Given the description of an element on the screen output the (x, y) to click on. 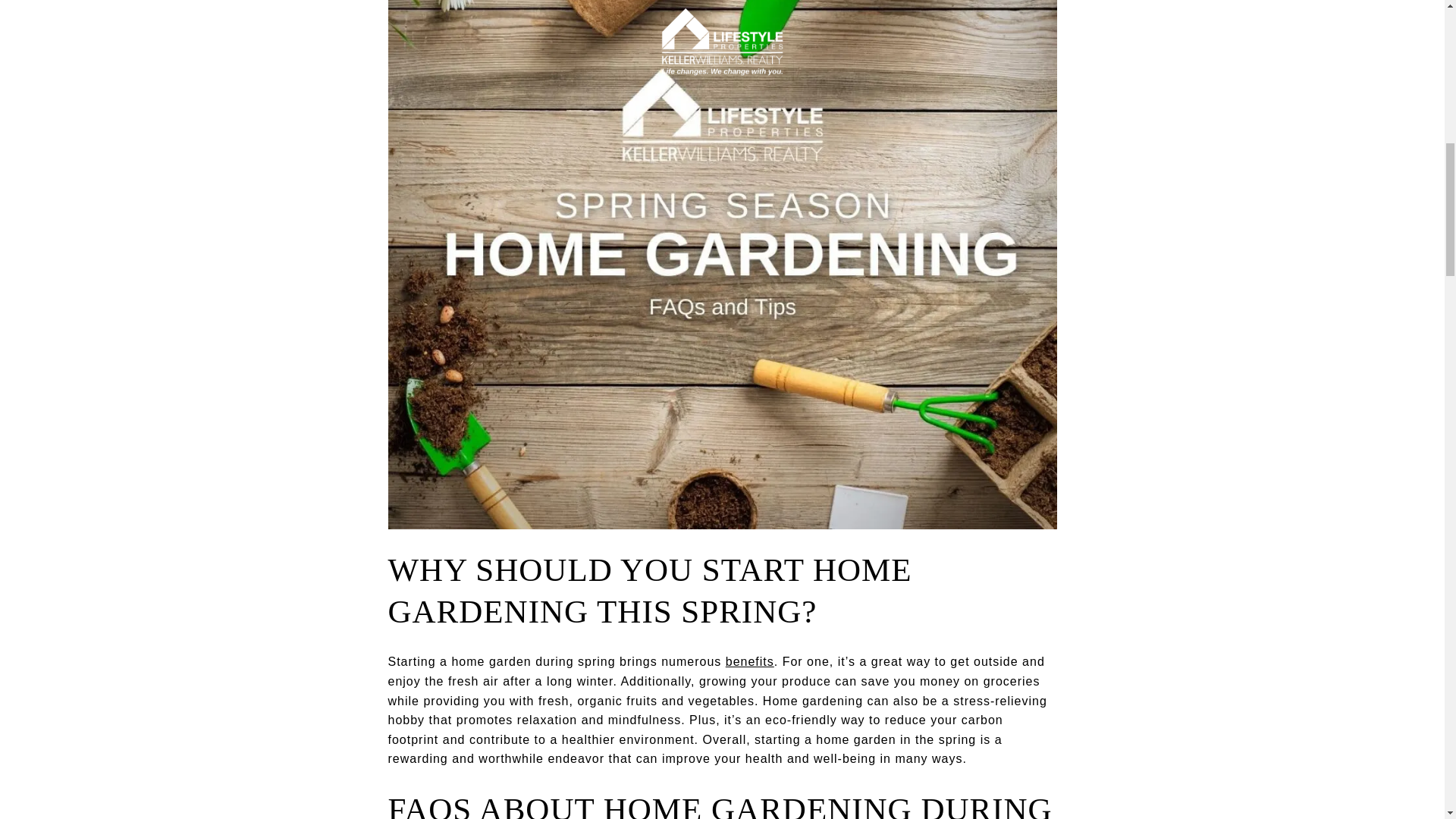
benefits (749, 661)
